Given the description of an element on the screen output the (x, y) to click on. 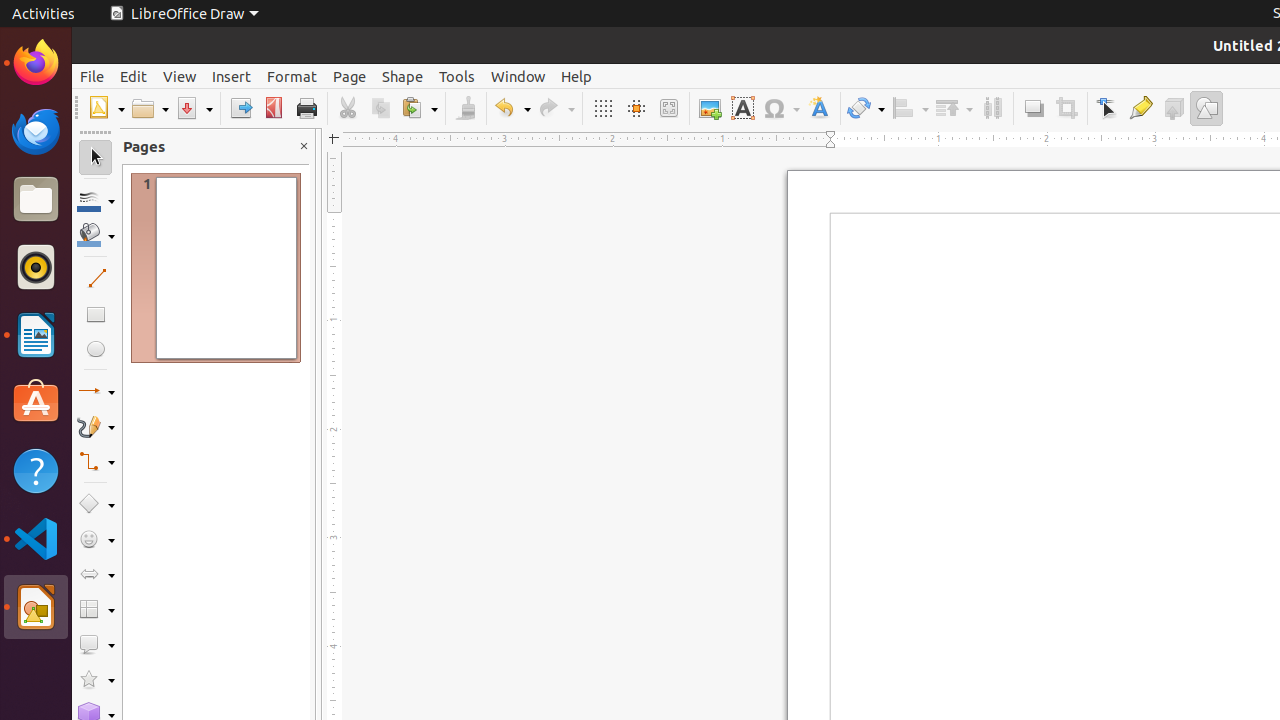
Symbol Shapes Element type: push-button (96, 539)
Edit Element type: menu (133, 76)
Fill Color Element type: push-button (259, 144)
Ellipse Element type: push-button (95, 348)
Export Element type: push-button (240, 108)
